Given the description of an element on the screen output the (x, y) to click on. 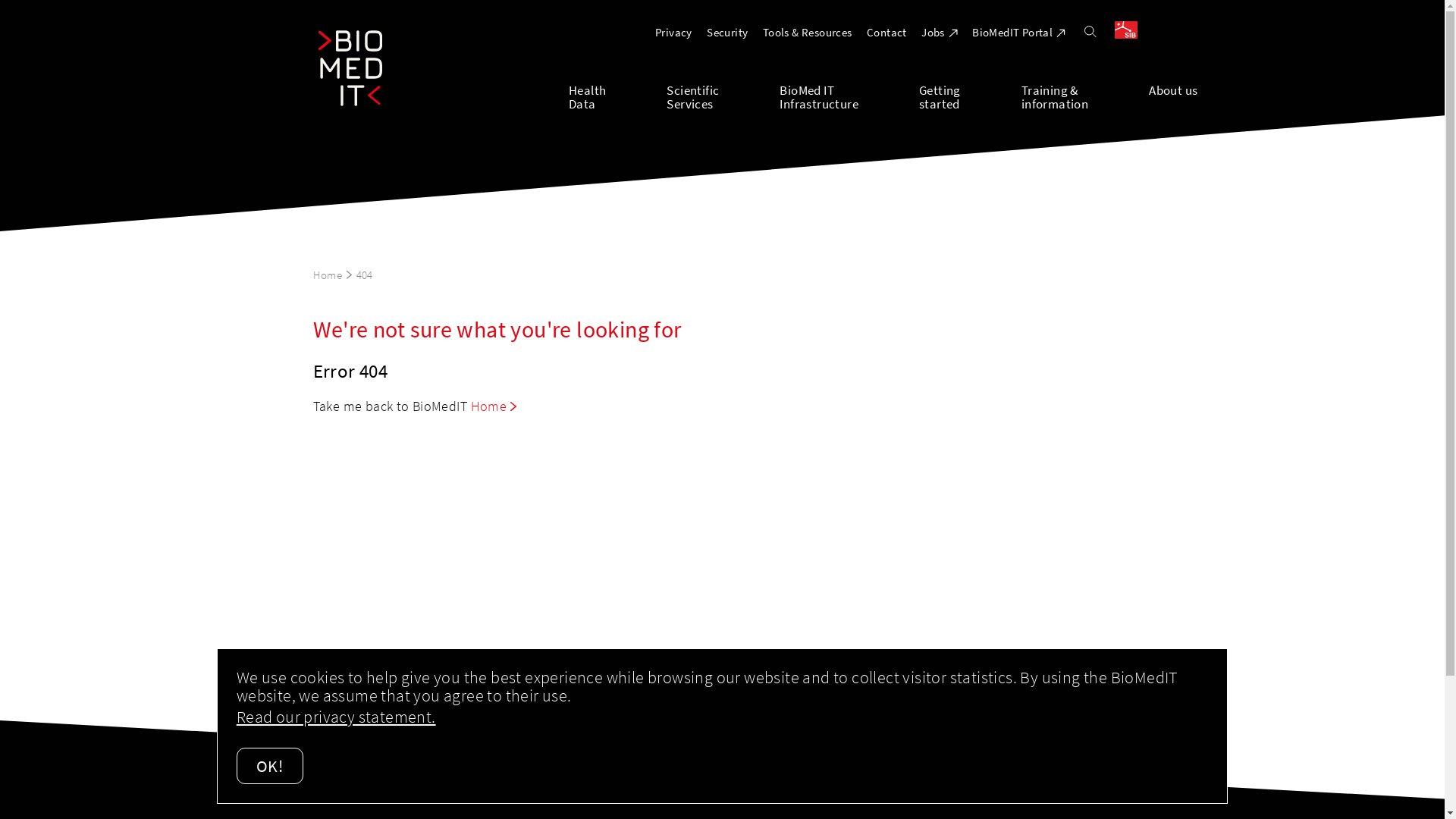
Scientific Services Element type: text (722, 95)
Tools & Resources Element type: text (807, 32)
Jobs Element type: text (939, 32)
BioMedIT Portal Element type: text (1018, 32)
OK! Element type: text (269, 765)
Read our privacy statement. Element type: text (336, 716)
Health Data Element type: text (617, 95)
Contact Element type: text (886, 32)
Home Element type: text (493, 405)
BioMed IT Infrastructure Element type: text (849, 95)
Home Element type: text (332, 274)
Getting started Element type: text (970, 95)
About us Element type: text (1172, 95)
Security Element type: text (726, 32)
Privacy Element type: text (673, 32)
Training & information Element type: text (1084, 95)
